Given the description of an element on the screen output the (x, y) to click on. 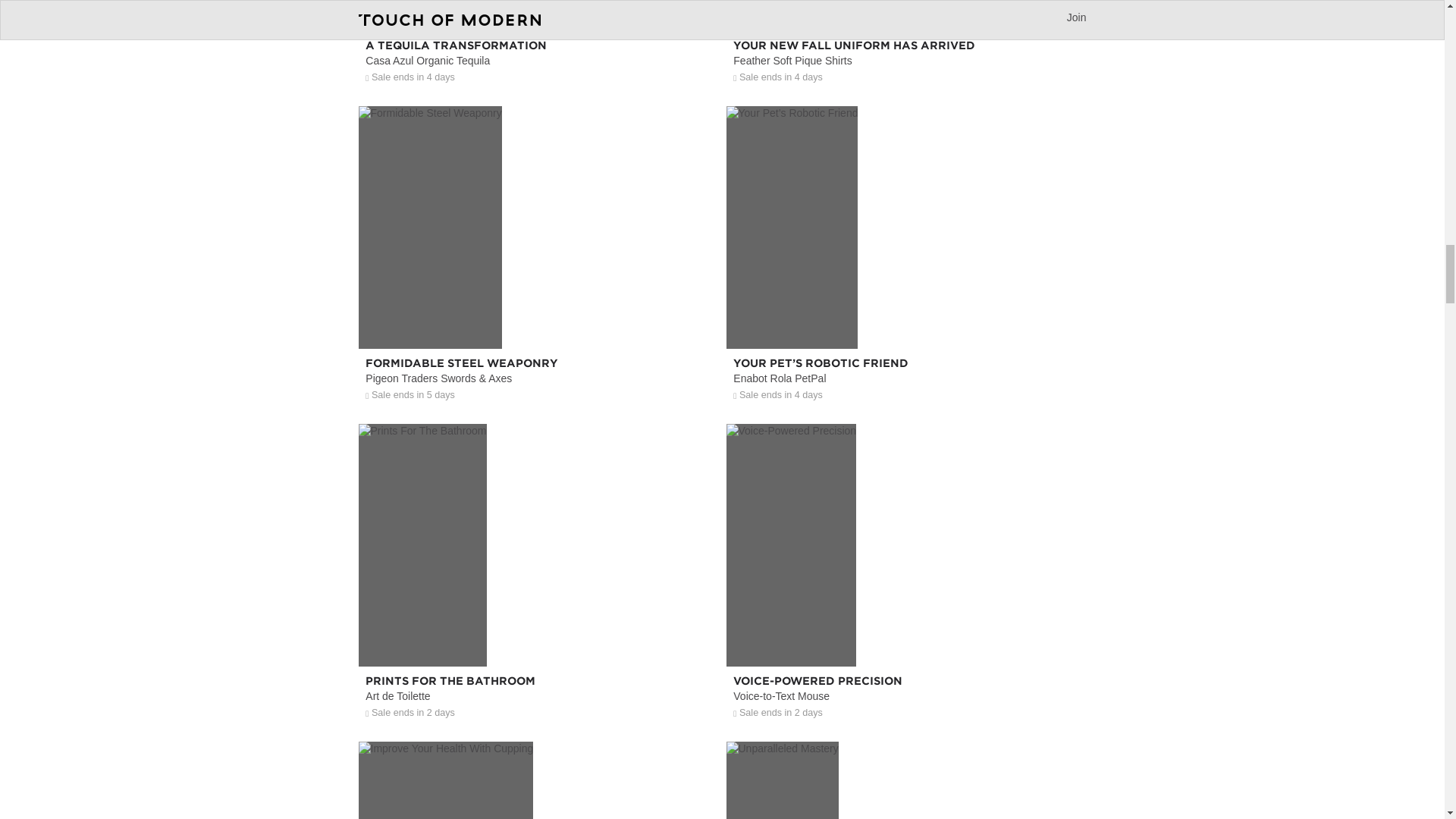
A Tequila Transformation (537, 47)
Your New Fall Uniform Has Arrived (906, 47)
Formidable Steel Weaponry (537, 316)
